Given the description of an element on the screen output the (x, y) to click on. 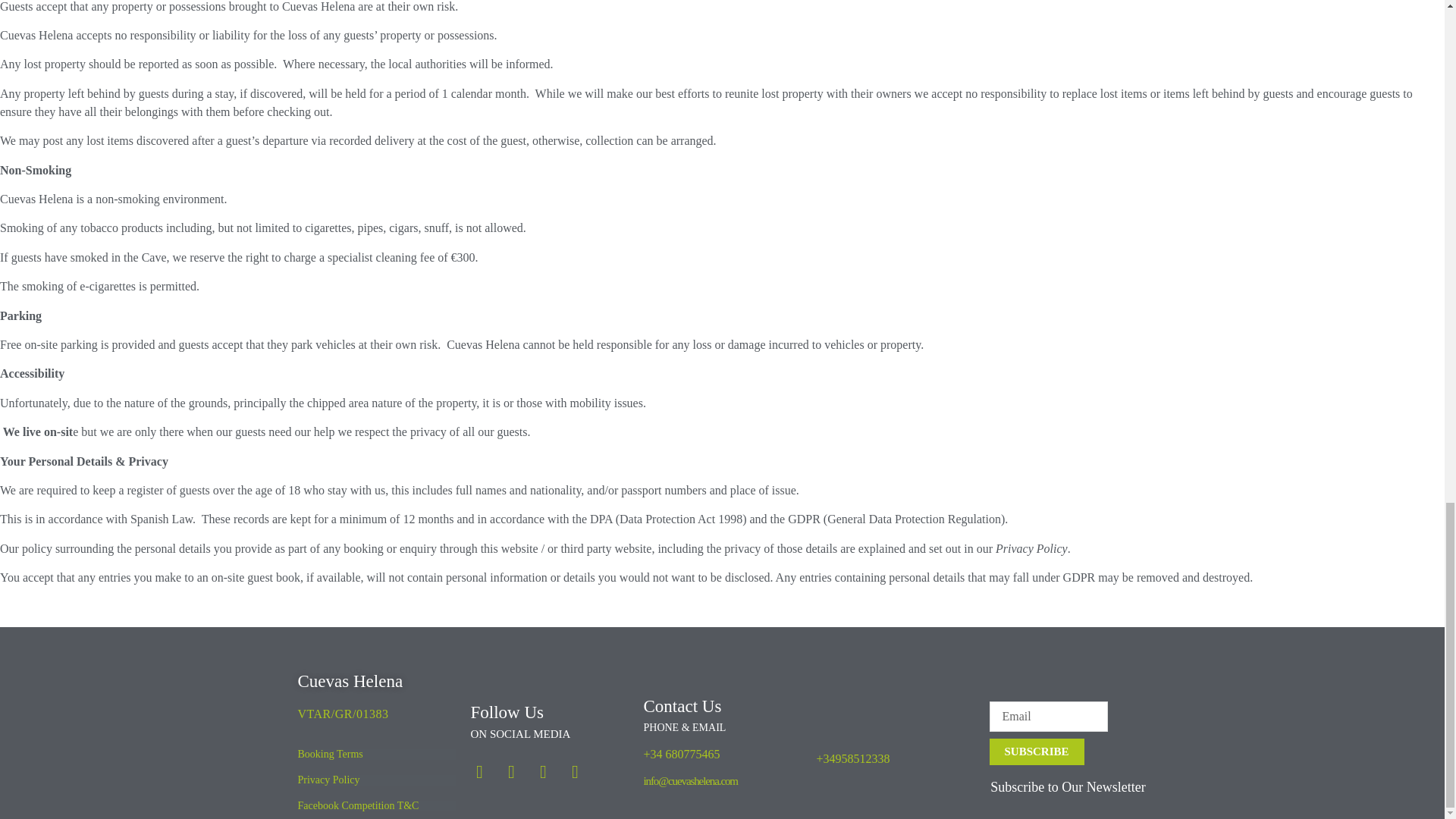
Privacy Policy (328, 779)
SUBSCRIBE (1035, 751)
Subscribe to Our Newsletter (1067, 786)
Booking Terms (329, 754)
